Given the description of an element on the screen output the (x, y) to click on. 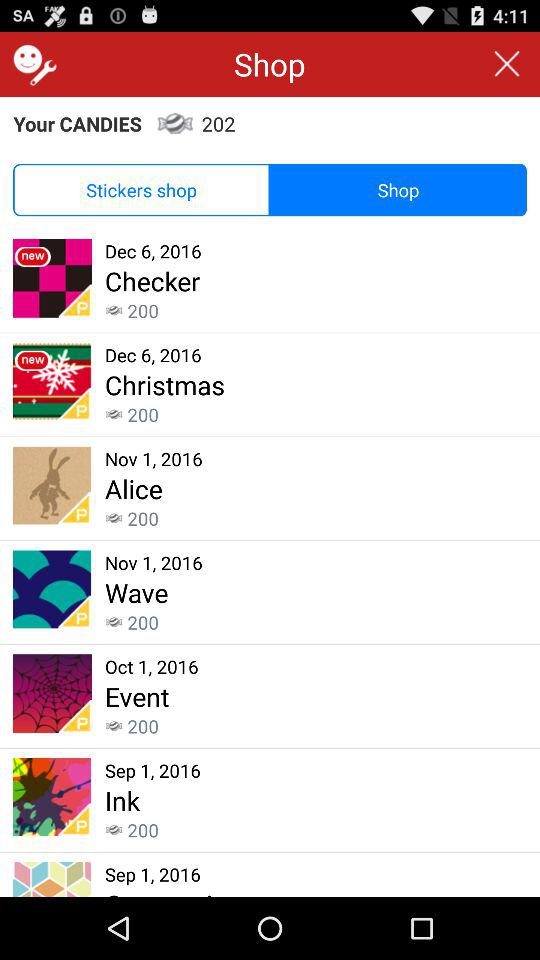
swipe to the event (137, 696)
